Given the description of an element on the screen output the (x, y) to click on. 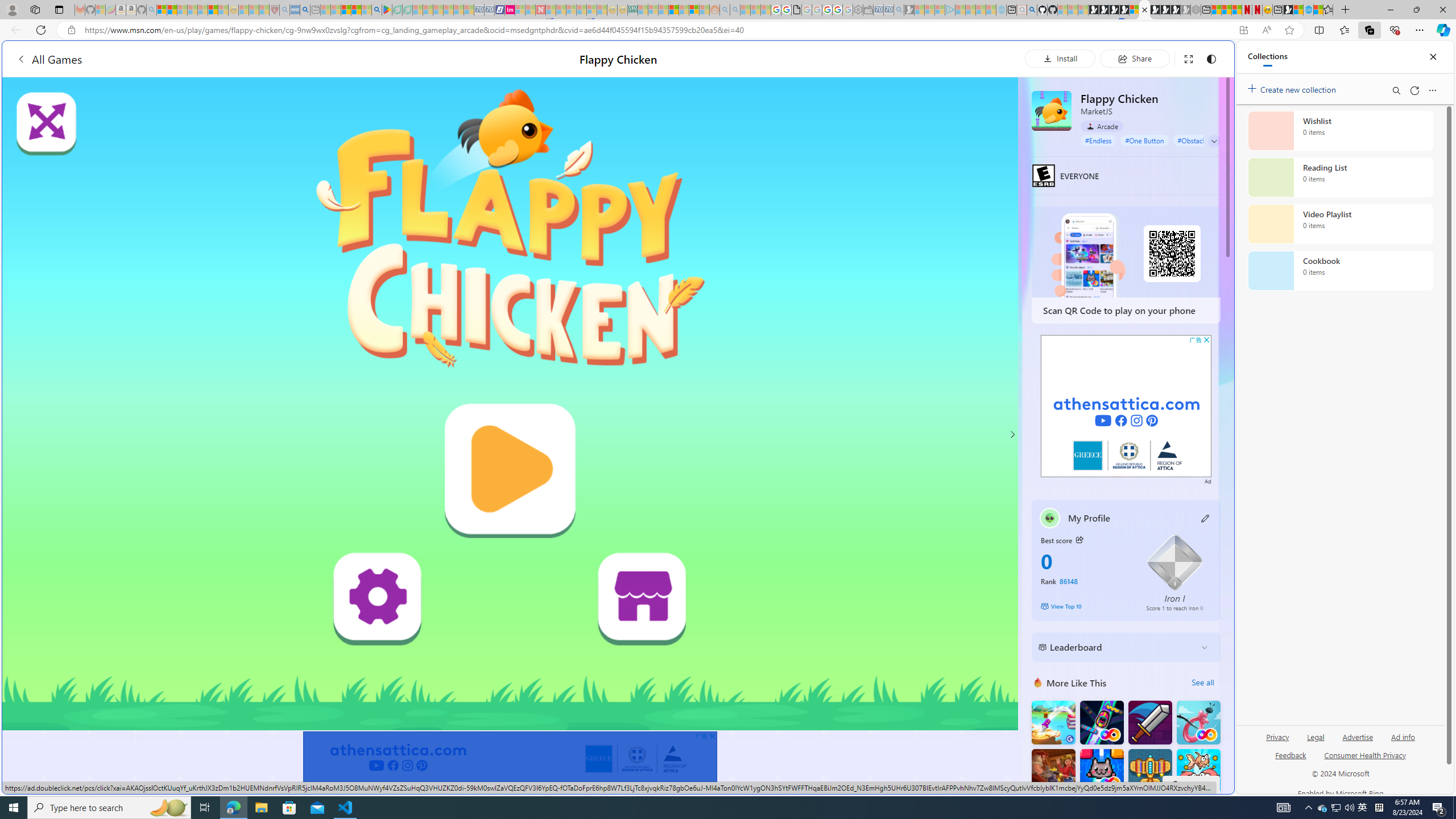
Bluey: Let's Play! - Apps on Google Play (387, 9)
Arcade (1101, 126)
Arcade (1101, 125)
All Games (216, 58)
More Like This (1037, 682)
